Given the description of an element on the screen output the (x, y) to click on. 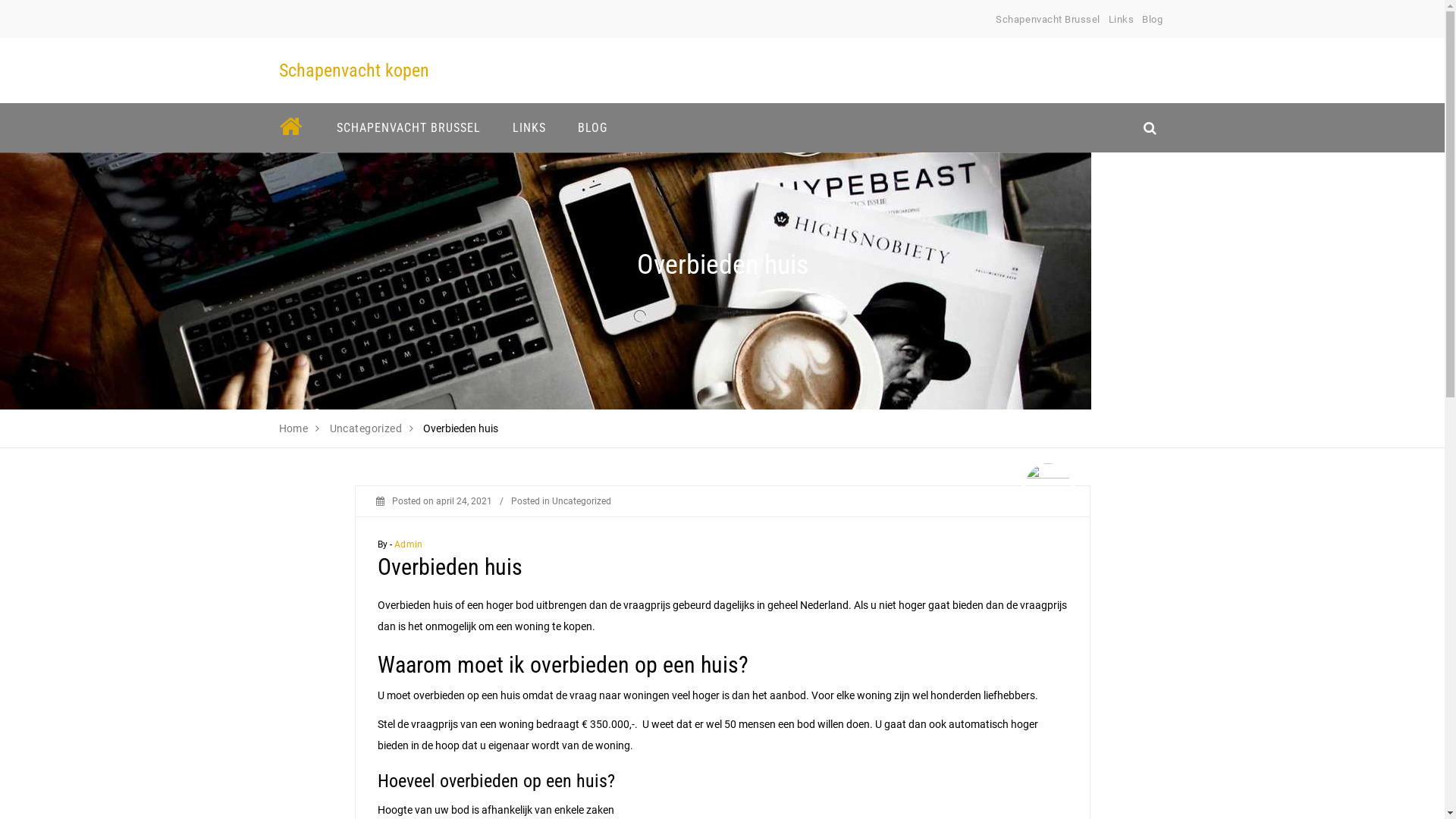
Blog Element type: text (1152, 19)
Admin Element type: text (408, 544)
Home Element type: text (293, 428)
Schapenvacht kopen Element type: text (354, 70)
LINKS Element type: text (528, 127)
BLOG Element type: text (591, 127)
Uncategorized Element type: text (581, 500)
Links Element type: text (1121, 19)
Schapenvacht Brussel Element type: text (1047, 19)
Uncategorized Element type: text (365, 428)
search_icon Element type: hover (1148, 127)
SCHAPENVACHT BRUSSEL Element type: text (407, 127)
